Given the description of an element on the screen output the (x, y) to click on. 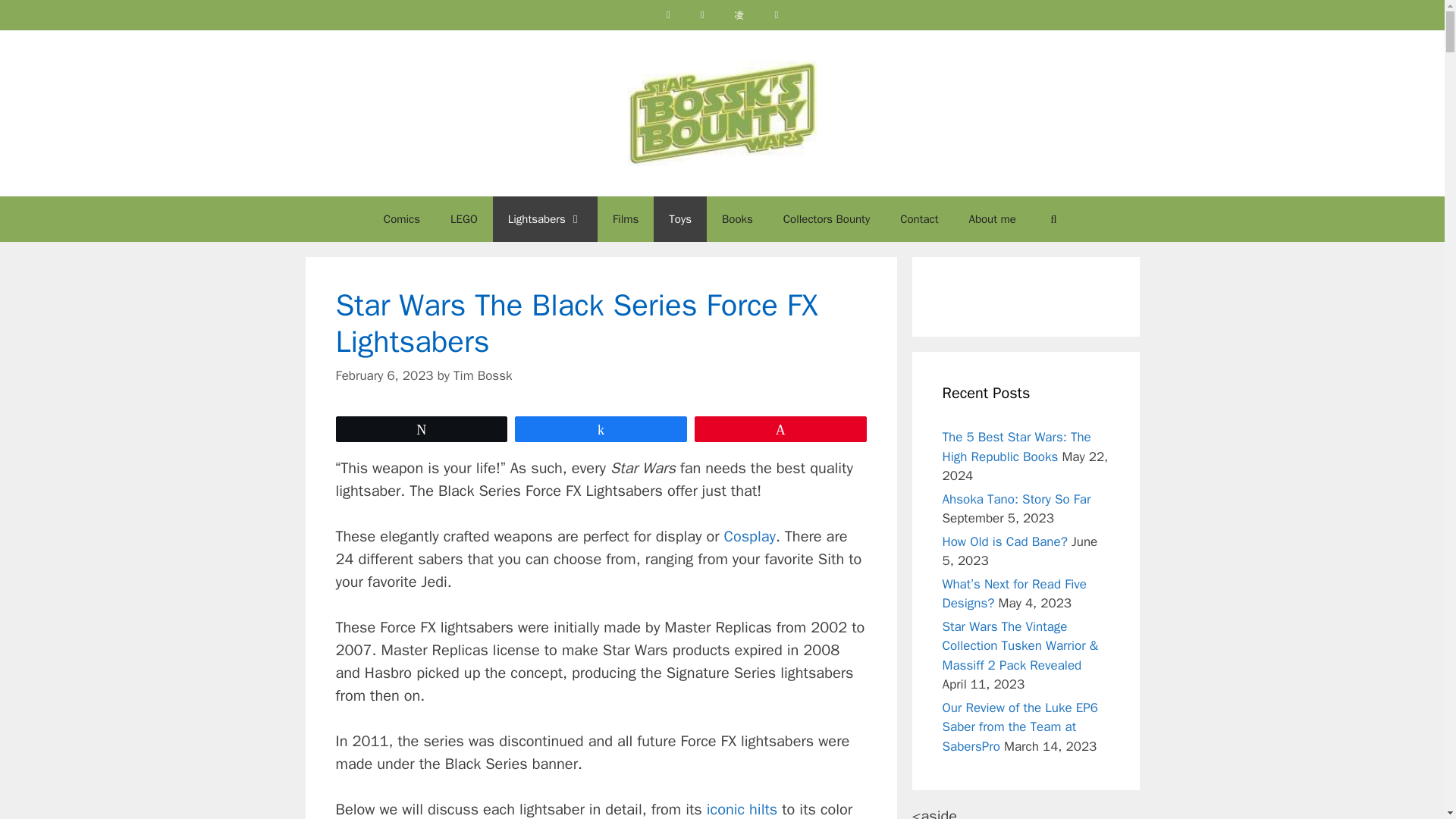
Films (624, 218)
Comics (401, 218)
View all posts by Tim Bossk (482, 375)
Toys (679, 218)
LEGO (464, 218)
About me (991, 218)
Books (737, 218)
Collectors Bounty (826, 218)
Contact (919, 218)
iconic hilts (741, 809)
